Given the description of an element on the screen output the (x, y) to click on. 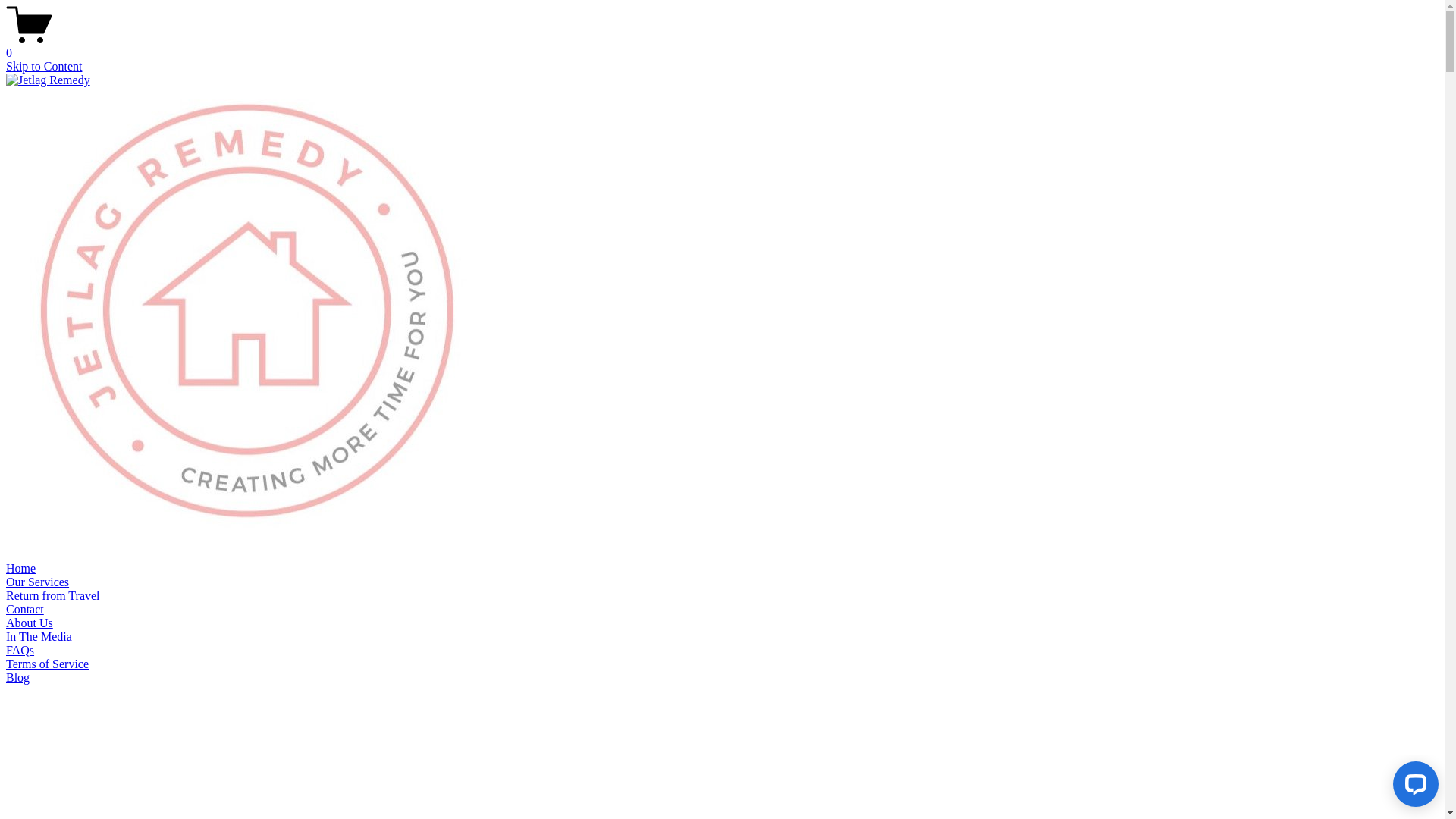
About Us Element type: text (29, 622)
0 Element type: text (722, 45)
Skip to Content Element type: text (43, 65)
Return from Travel Element type: text (53, 595)
Blog Element type: text (17, 677)
Terms of Service Element type: text (47, 663)
Our Services Element type: text (37, 581)
In The Media Element type: text (39, 636)
FAQs Element type: text (20, 649)
Contact Element type: text (24, 608)
Home Element type: text (20, 567)
